Given the description of an element on the screen output the (x, y) to click on. 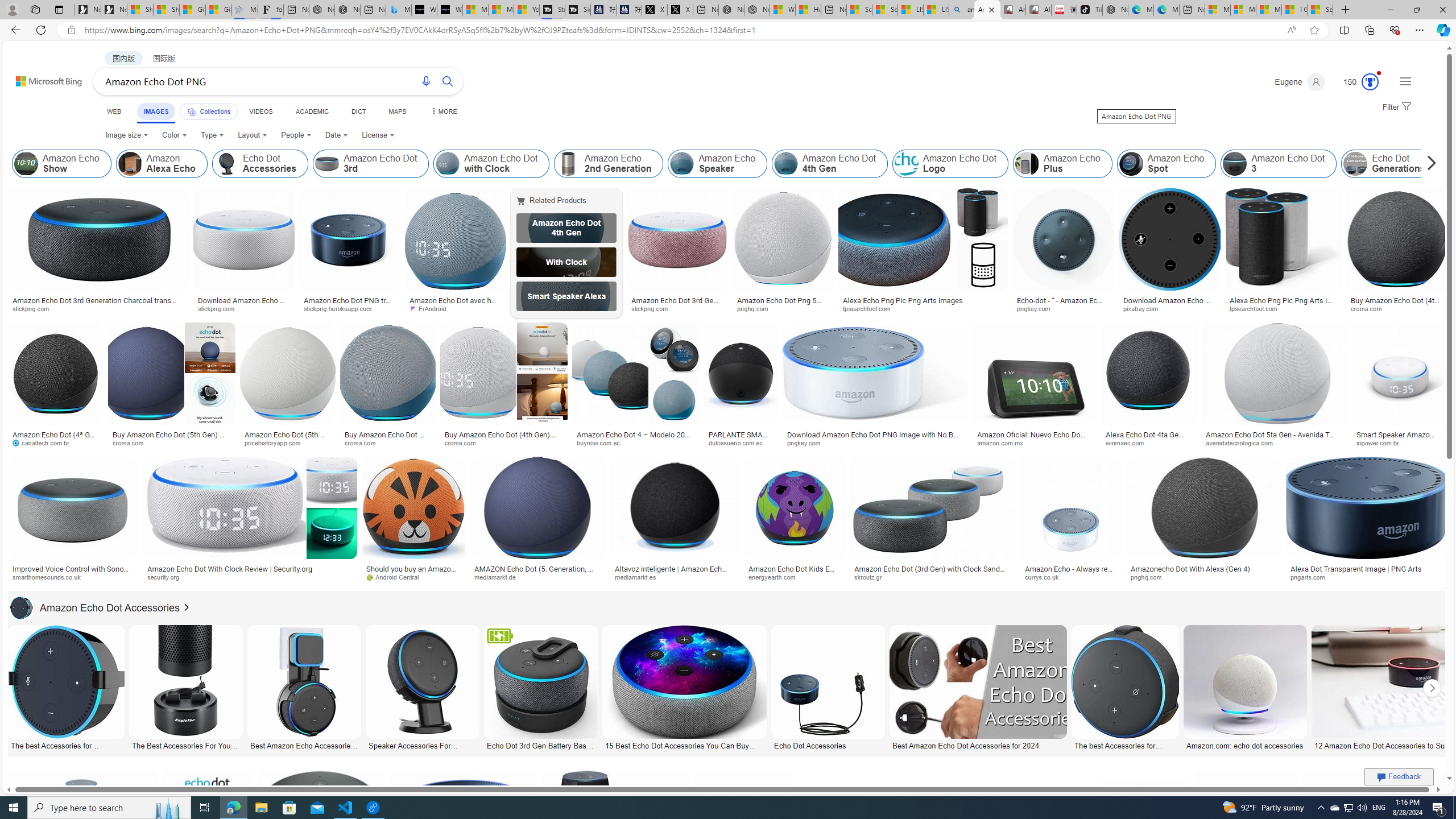
Echo Dot Generations (1388, 163)
Scroll right (1428, 163)
winmaec.com (1128, 442)
Dropdown Menu (443, 111)
currys.co.uk (1046, 576)
Color (173, 135)
